Given the description of an element on the screen output the (x, y) to click on. 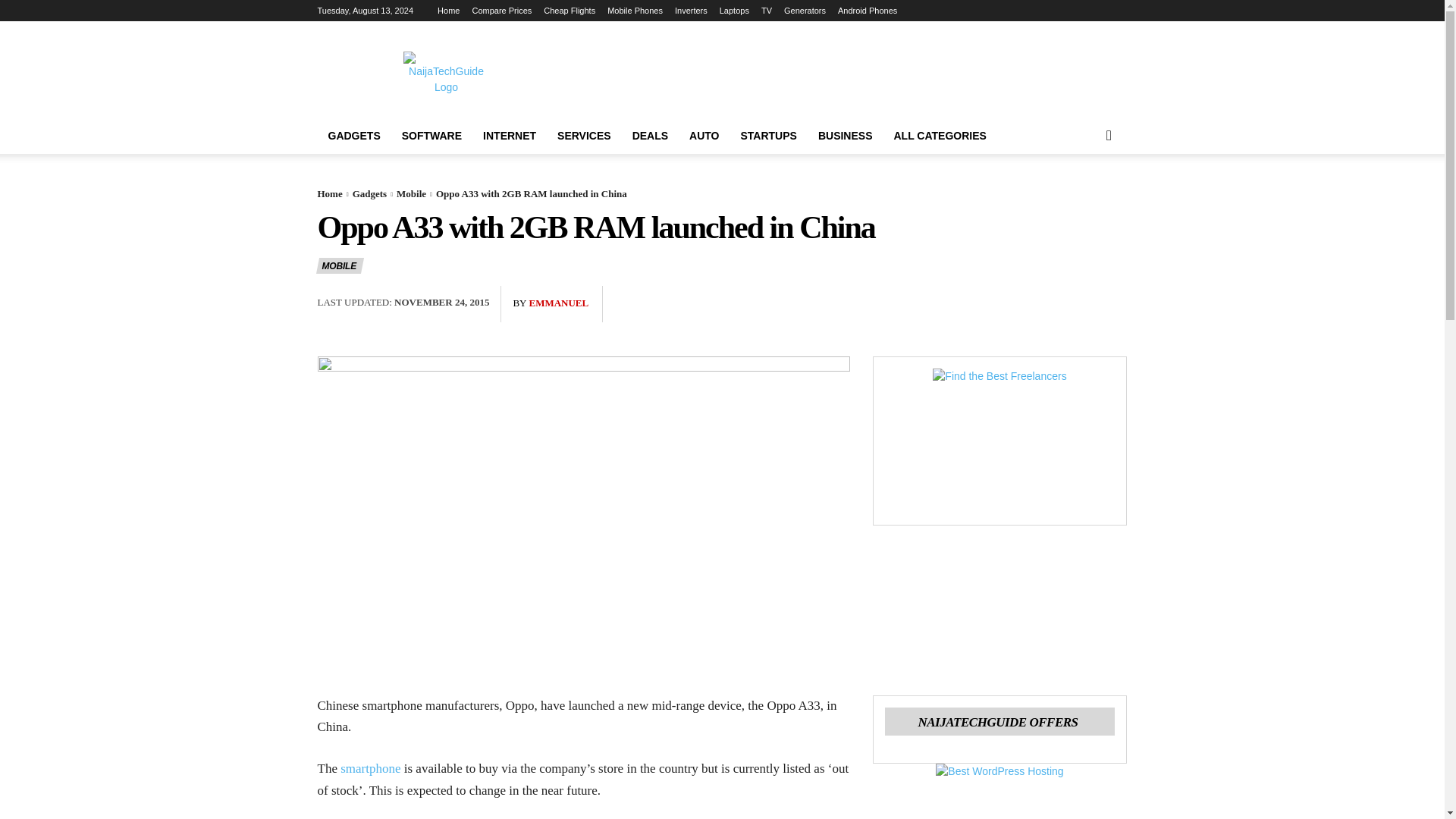
All the Latest and Best Laptops (734, 10)
SOFTWARE (431, 135)
Compare Prices (501, 10)
Cheap Flights (569, 10)
All the Latest and Best Mobile Phones (634, 10)
TV (766, 10)
Inverters (691, 10)
Home (449, 10)
Generators (804, 10)
Best TV Models (766, 10)
